Given the description of an element on the screen output the (x, y) to click on. 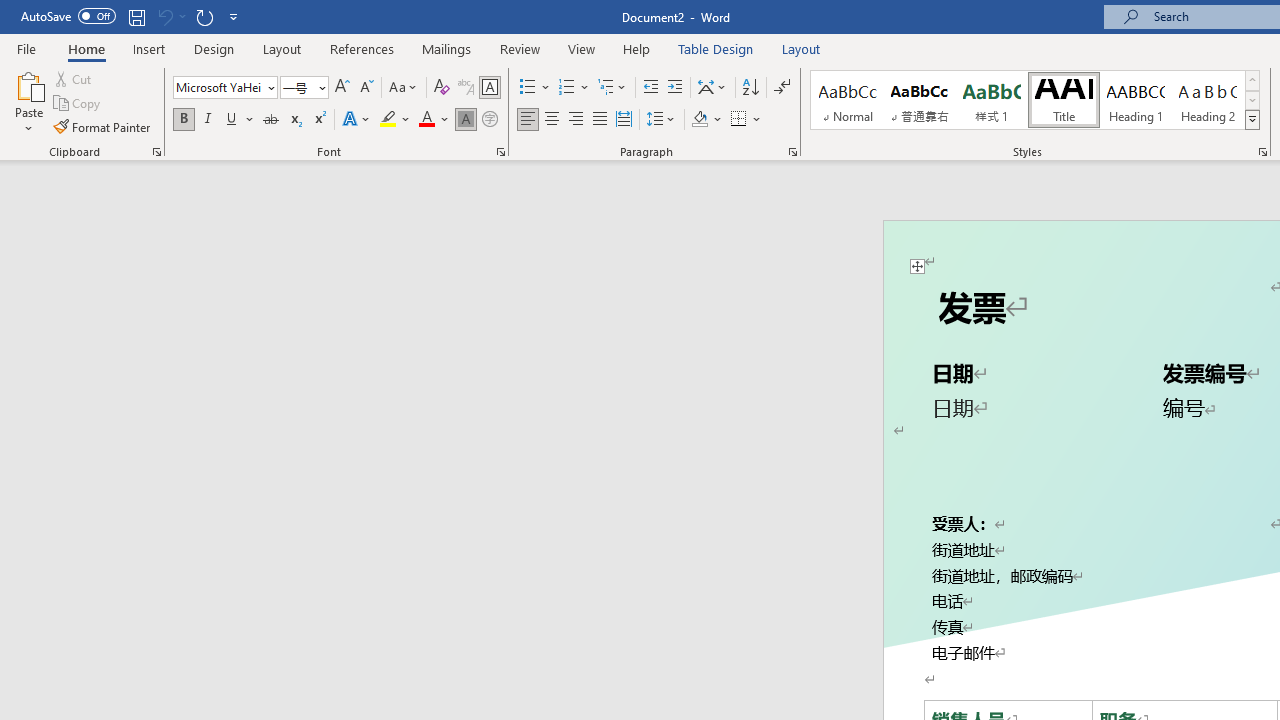
Table Design (715, 48)
Help (637, 48)
Align Left (527, 119)
Save (136, 15)
Heading 2 (1208, 100)
Multilevel List (613, 87)
Quick Access Toolbar (131, 16)
Title (1063, 100)
Bullets (535, 87)
Font (218, 87)
Phonetic Guide... (465, 87)
Grow Font (342, 87)
Can't Undo (170, 15)
